Given the description of an element on the screen output the (x, y) to click on. 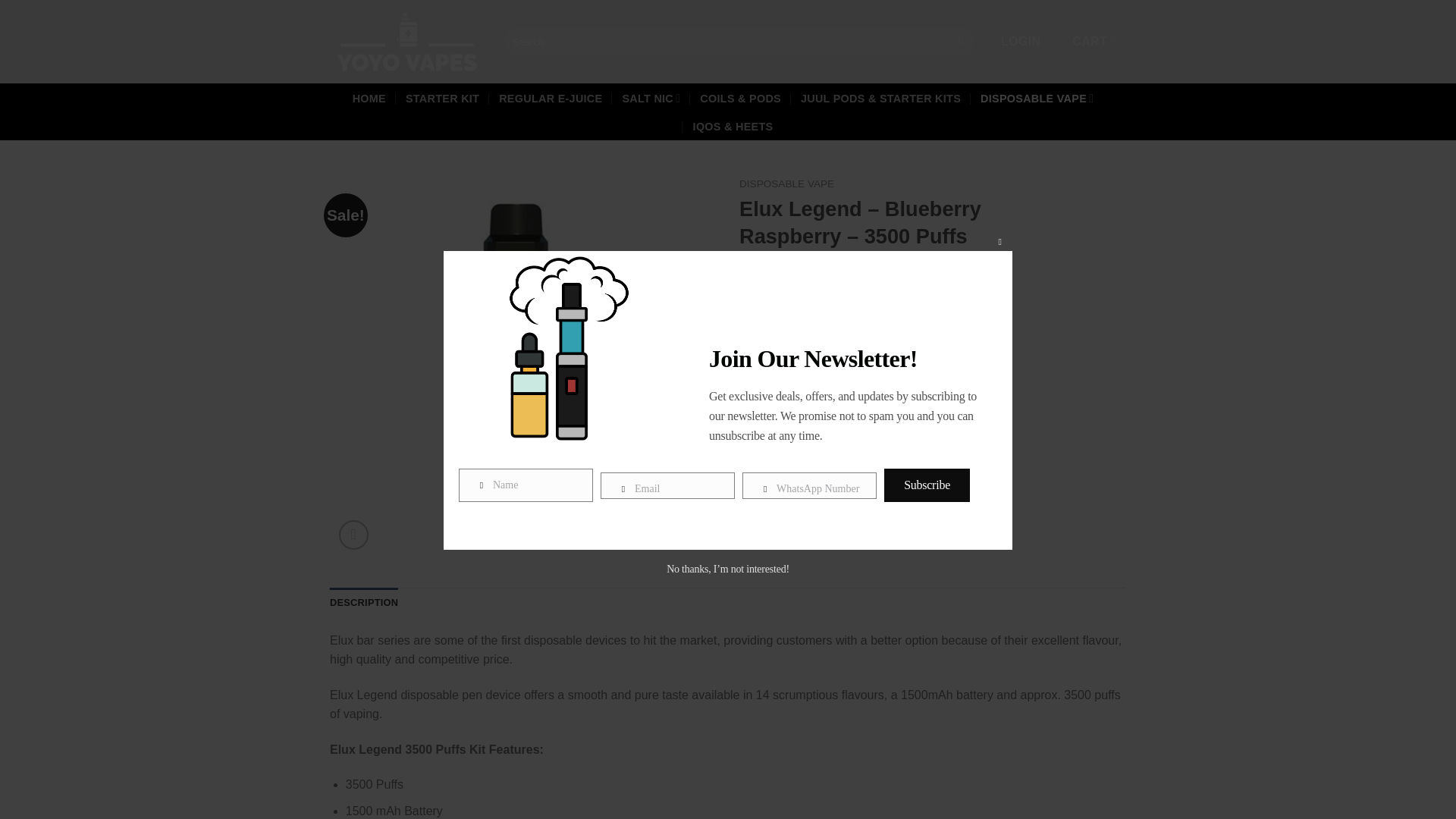
Search (959, 41)
LOGIN (1021, 41)
REGULAR E-JUICE (550, 98)
Cart (1098, 41)
DISPOSABLE VAPE (1036, 98)
HOME (368, 98)
STARTER KIT (442, 98)
SALT NIC (650, 98)
YOYO VAPES - Best Vape Store (405, 40)
CART (1098, 41)
